Given the description of an element on the screen output the (x, y) to click on. 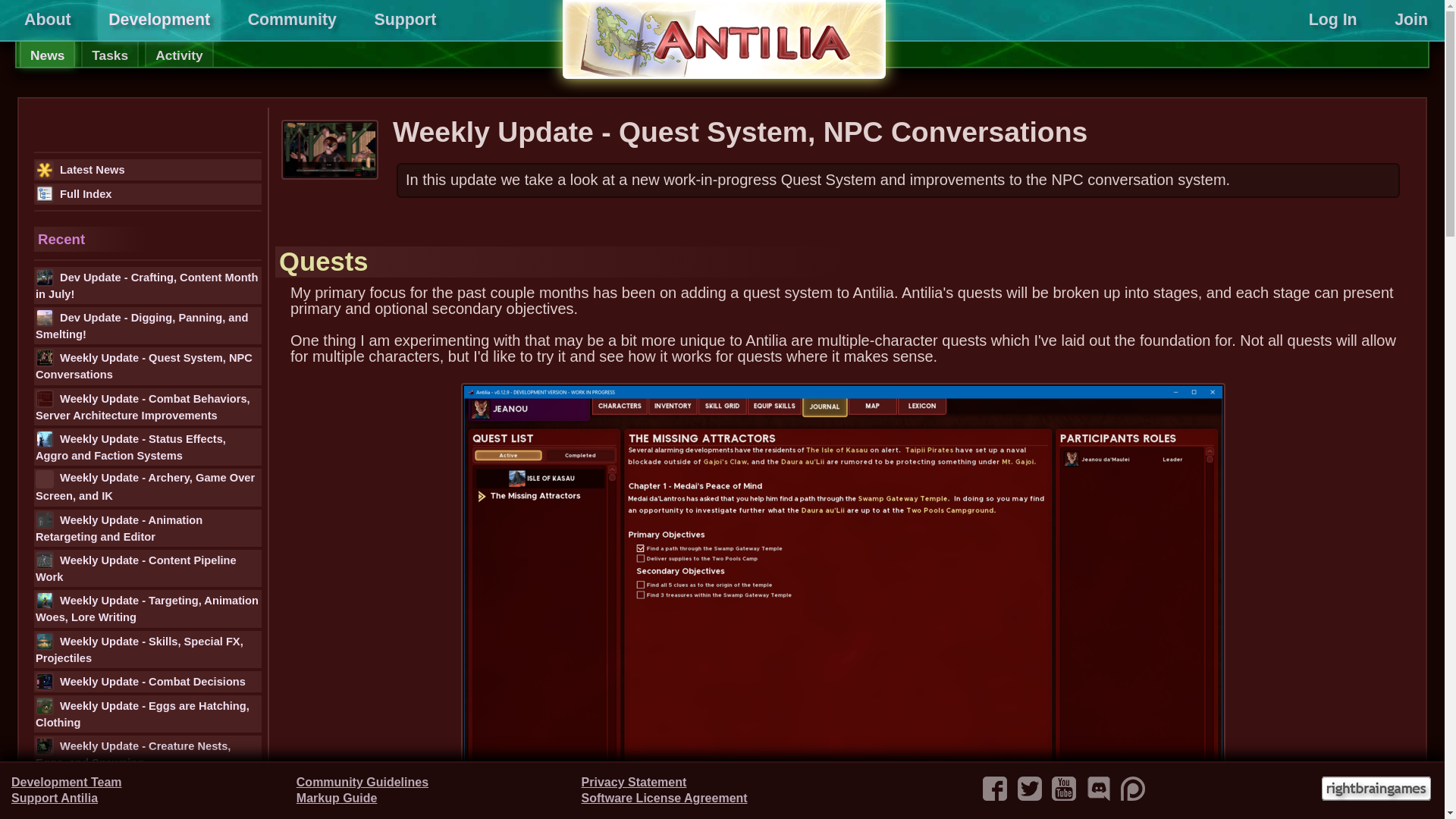
Weekly Update - Content Pipeline Work (147, 568)
Dev Update - Crafting, Content Month in July! (147, 284)
Tasks (109, 53)
Community (292, 20)
Weekly Update - Combat Decisions (147, 681)
Weekly Update - Animation Retargeting and Editor (147, 528)
Weekly Update - Eggs are Hatching, Clothing (147, 713)
Join (1411, 20)
Weekly Update - Skills, Special FX, Projectiles (147, 649)
Weekly Update - AI Behavior Editor is Functioning! (147, 795)
